Given the description of an element on the screen output the (x, y) to click on. 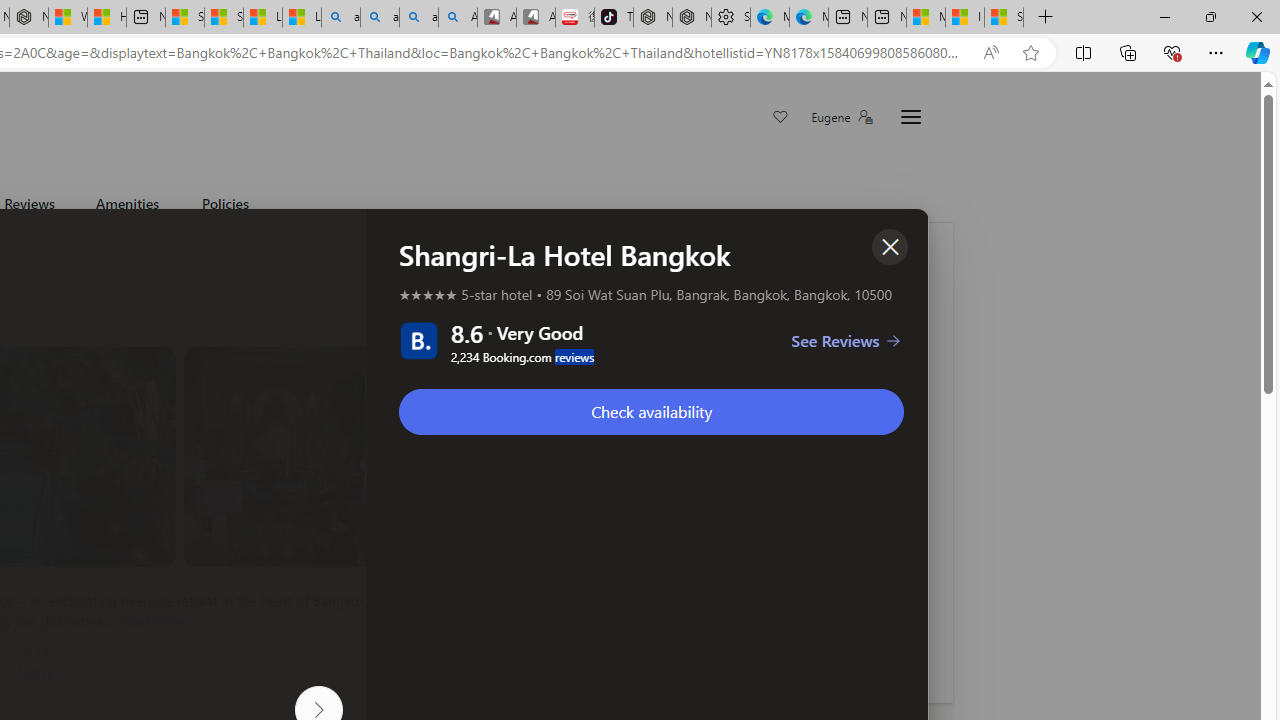
Amazon Echo Robot - Search Images (458, 17)
I Gained 20 Pounds of Muscle in 30 Days! | Watch (964, 17)
TikTok (614, 17)
